Given the description of an element on the screen output the (x, y) to click on. 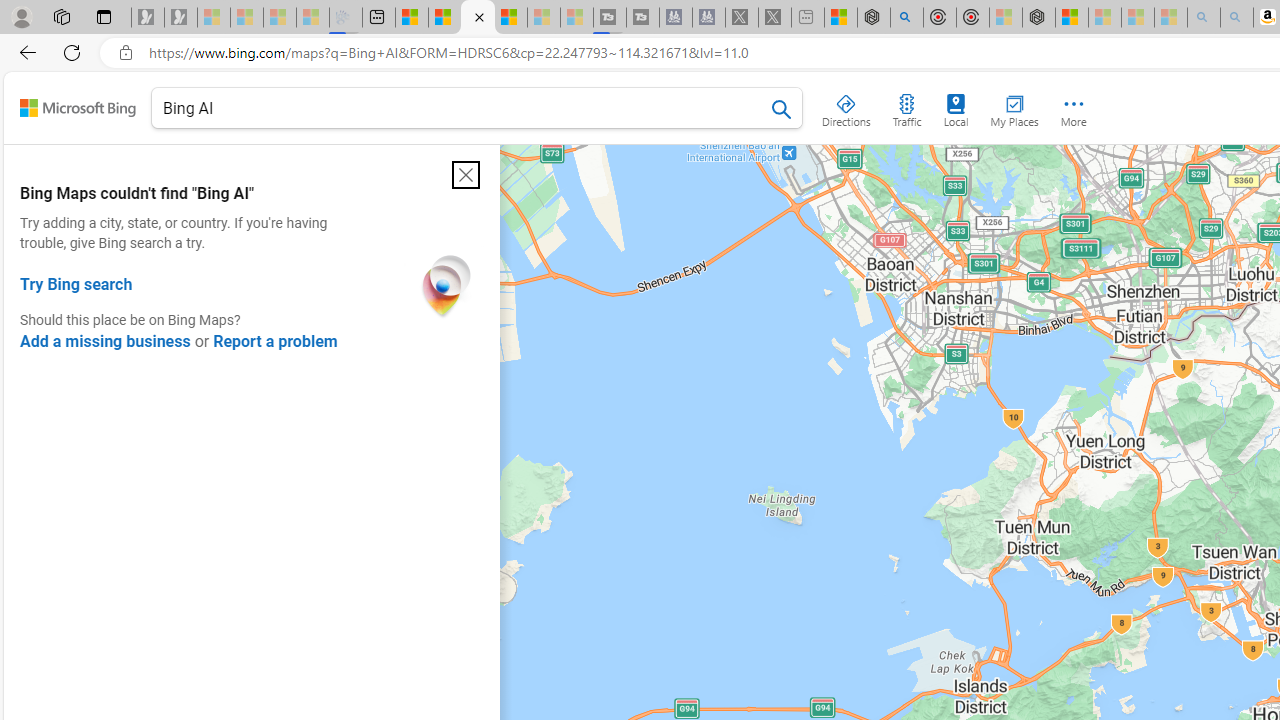
Directions (846, 106)
My Places (1014, 106)
Local (955, 106)
More (1073, 106)
Local (955, 106)
